Given the description of an element on the screen output the (x, y) to click on. 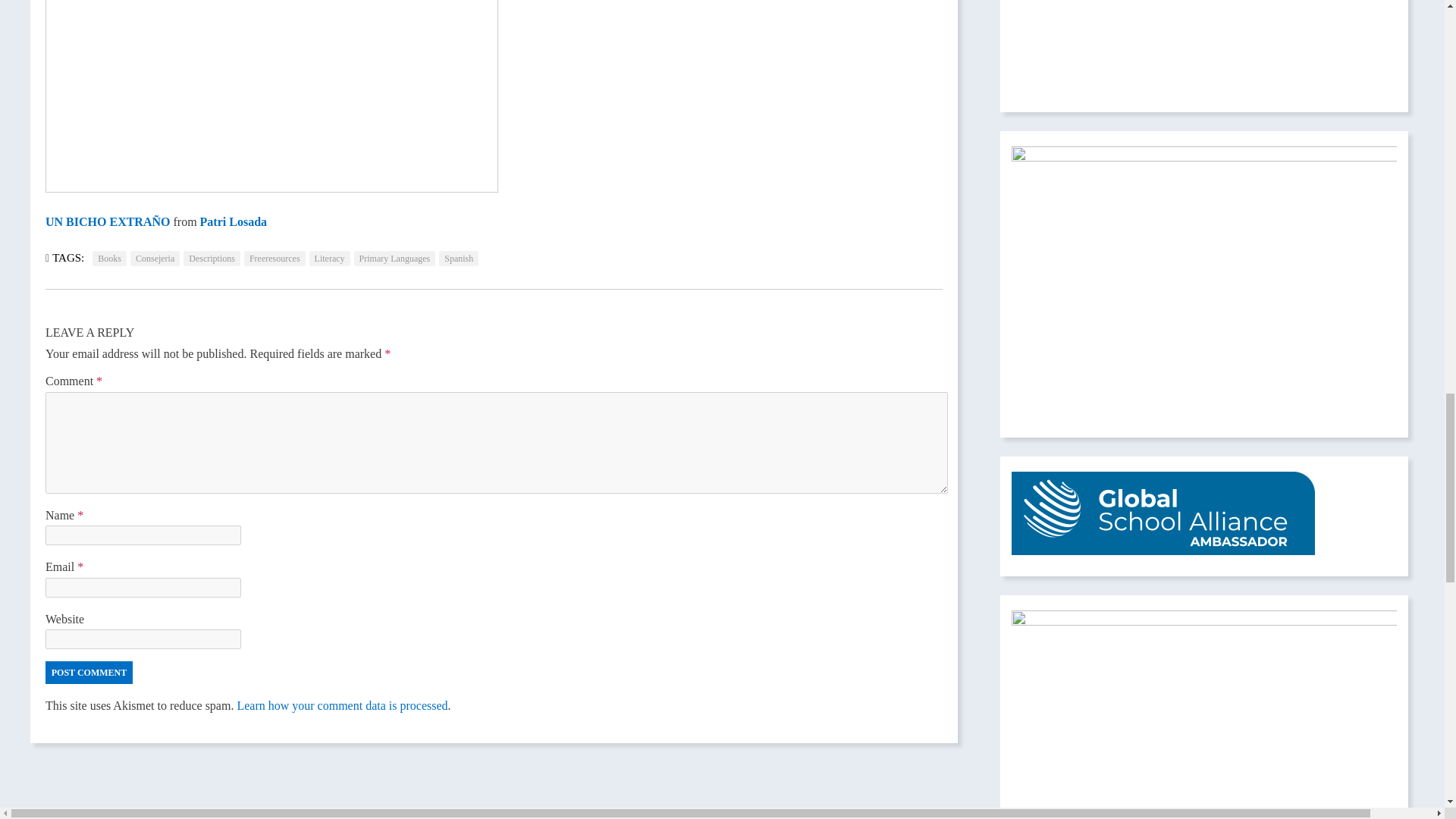
Post Comment (88, 671)
Learn how your comment data is processed (340, 705)
Post Comment (88, 671)
Primary Languages (394, 258)
Descriptions (211, 258)
Patri Losada (233, 221)
Books (109, 258)
Literacy (329, 258)
Consejeria (155, 258)
Freeresources (274, 258)
Spanish (459, 258)
